Given the description of an element on the screen output the (x, y) to click on. 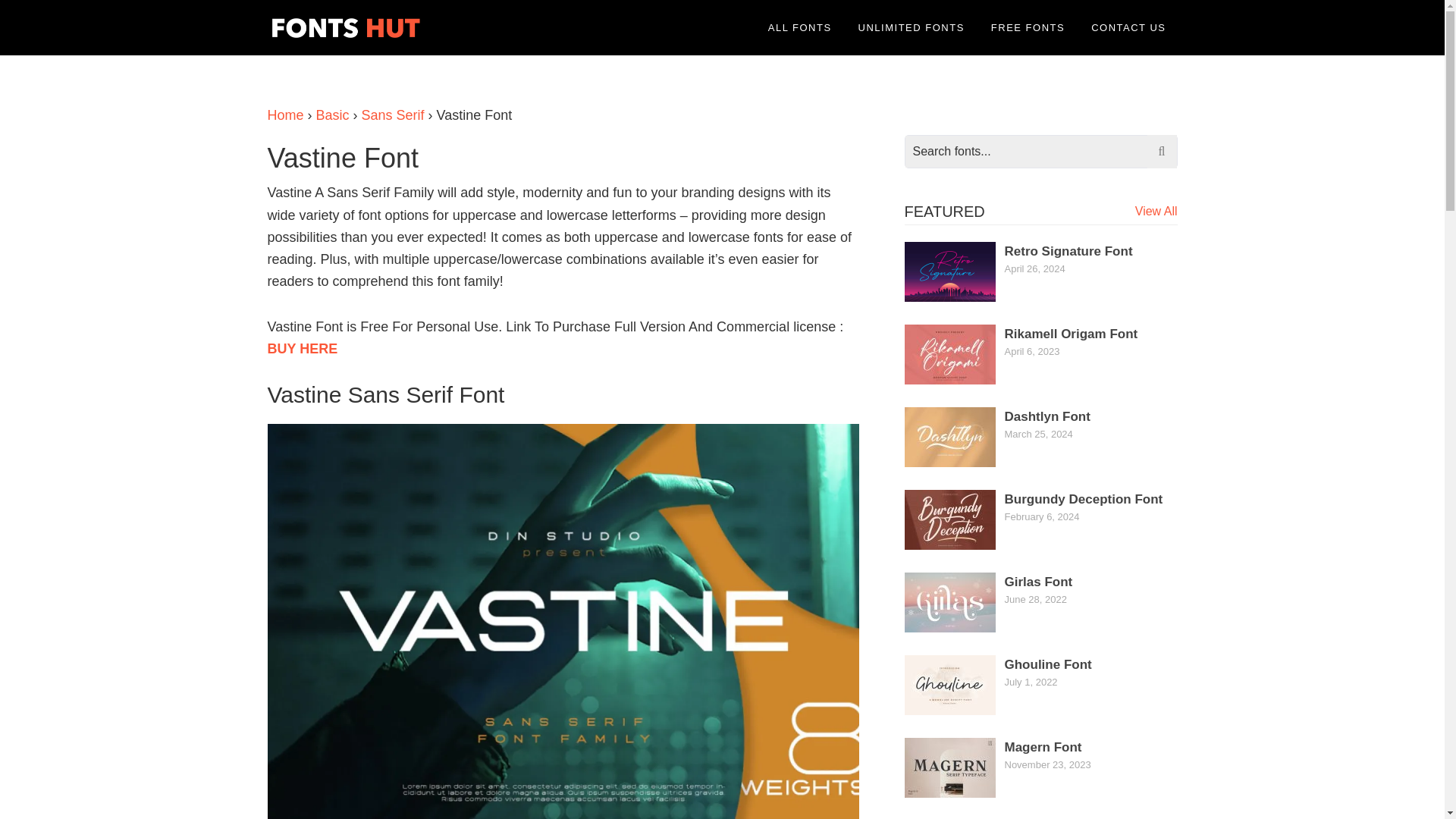
ALL FONTS (800, 27)
UNLIMITED FONTS (911, 27)
FREE FONTS (1027, 27)
Basic (332, 114)
Sans Serif (393, 114)
Home (284, 114)
BUY HERE (301, 348)
CONTACT US (1128, 27)
